Given the description of an element on the screen output the (x, y) to click on. 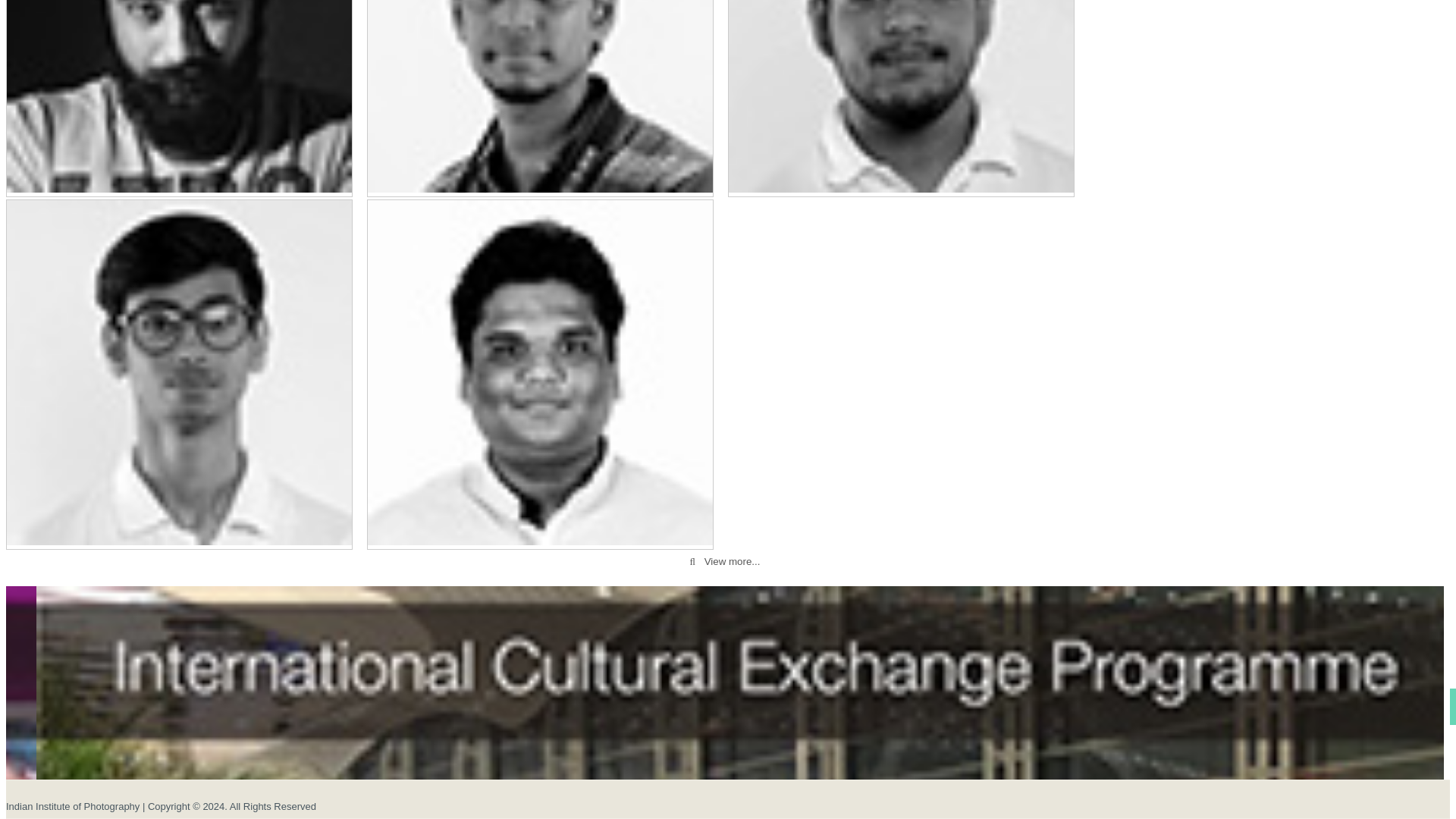
IIPian Raaj Kiran (540, 96)
IIPian Satyam Gupta (540, 372)
IIPian Manav Nagariya (179, 372)
IIPian Himish Goyal (901, 96)
IIPian Chatar Singh (179, 96)
